Given the description of an element on the screen output the (x, y) to click on. 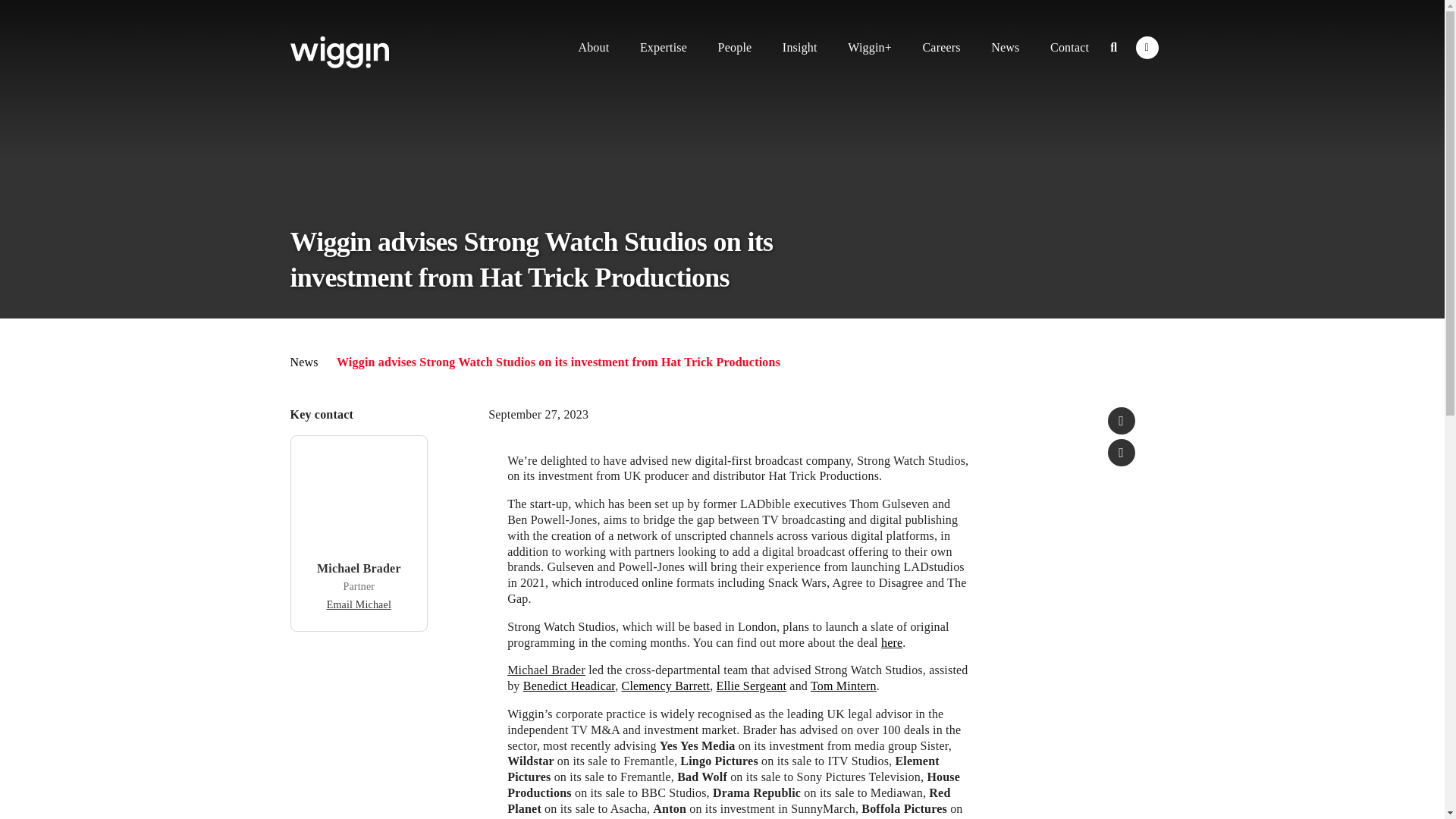
Email address for Michael (358, 604)
Insight (799, 47)
Search (1112, 47)
People (734, 47)
Profile for Michael (359, 567)
Wiggin Logo Header (338, 51)
Expertise (662, 47)
Careers (941, 47)
